Given the description of an element on the screen output the (x, y) to click on. 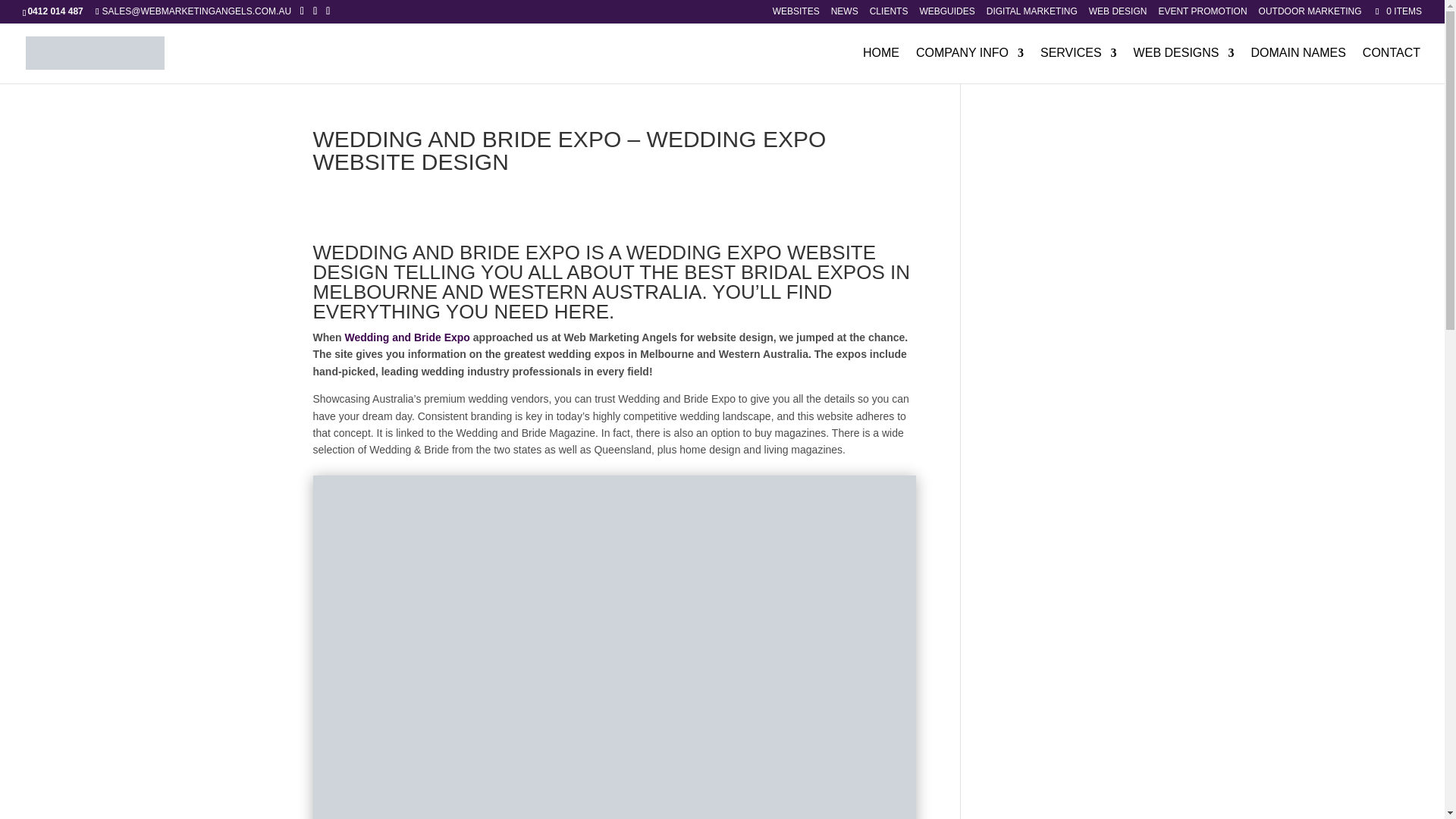
CLIENTS (888, 14)
0 ITEMS (1397, 10)
SERVICES (1078, 65)
COMPANY INFO (969, 65)
NEWS (845, 14)
EVENT PROMOTION (1201, 14)
WEB DESIGN (1118, 14)
DIGITAL MARKETING (1032, 14)
HOME (881, 65)
WEBGUIDES (946, 14)
OUTDOOR MARKETING (1310, 14)
WEBSITES (796, 14)
